Given the description of an element on the screen output the (x, y) to click on. 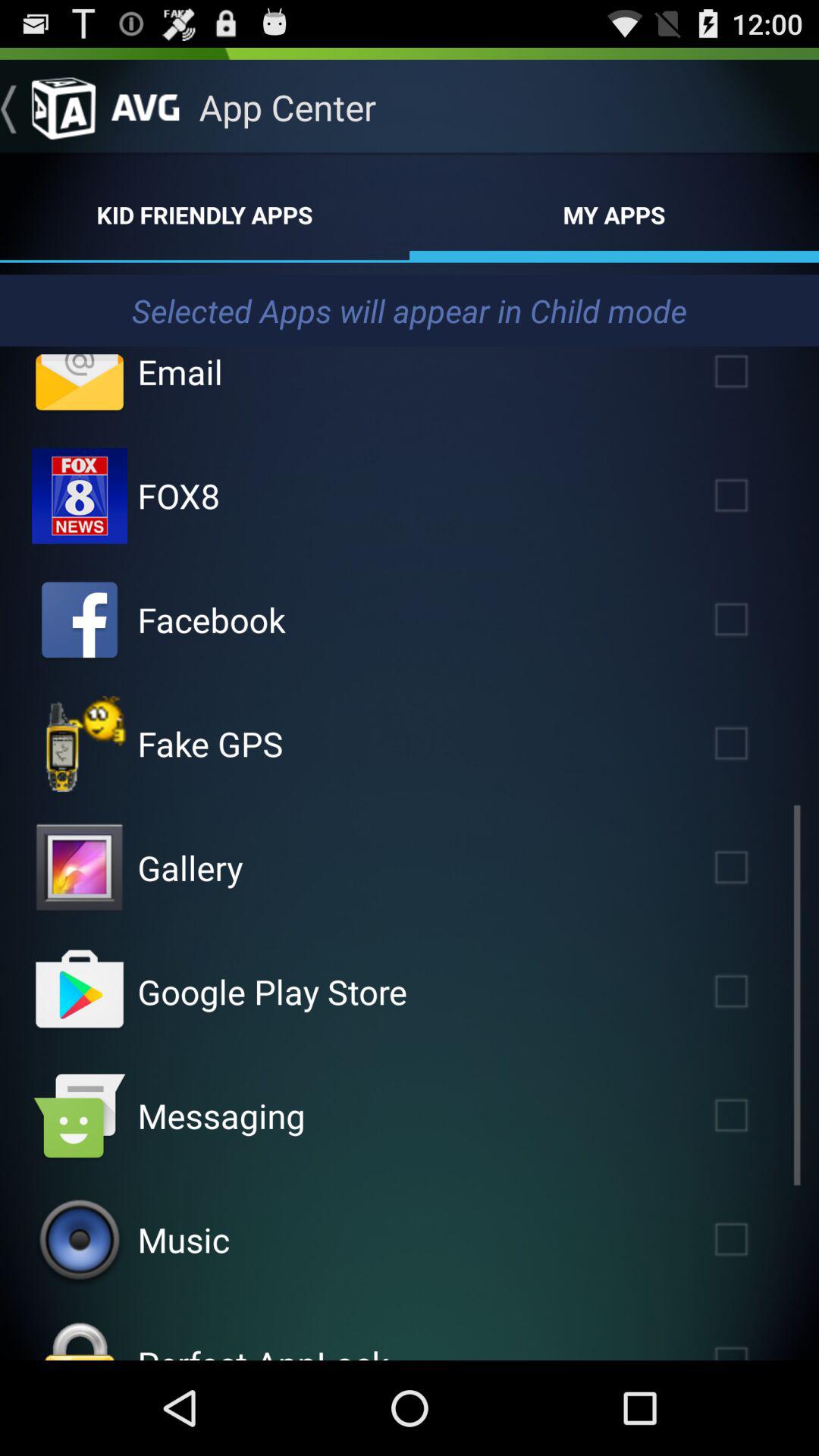
select fake gps (753, 743)
